Given the description of an element on the screen output the (x, y) to click on. 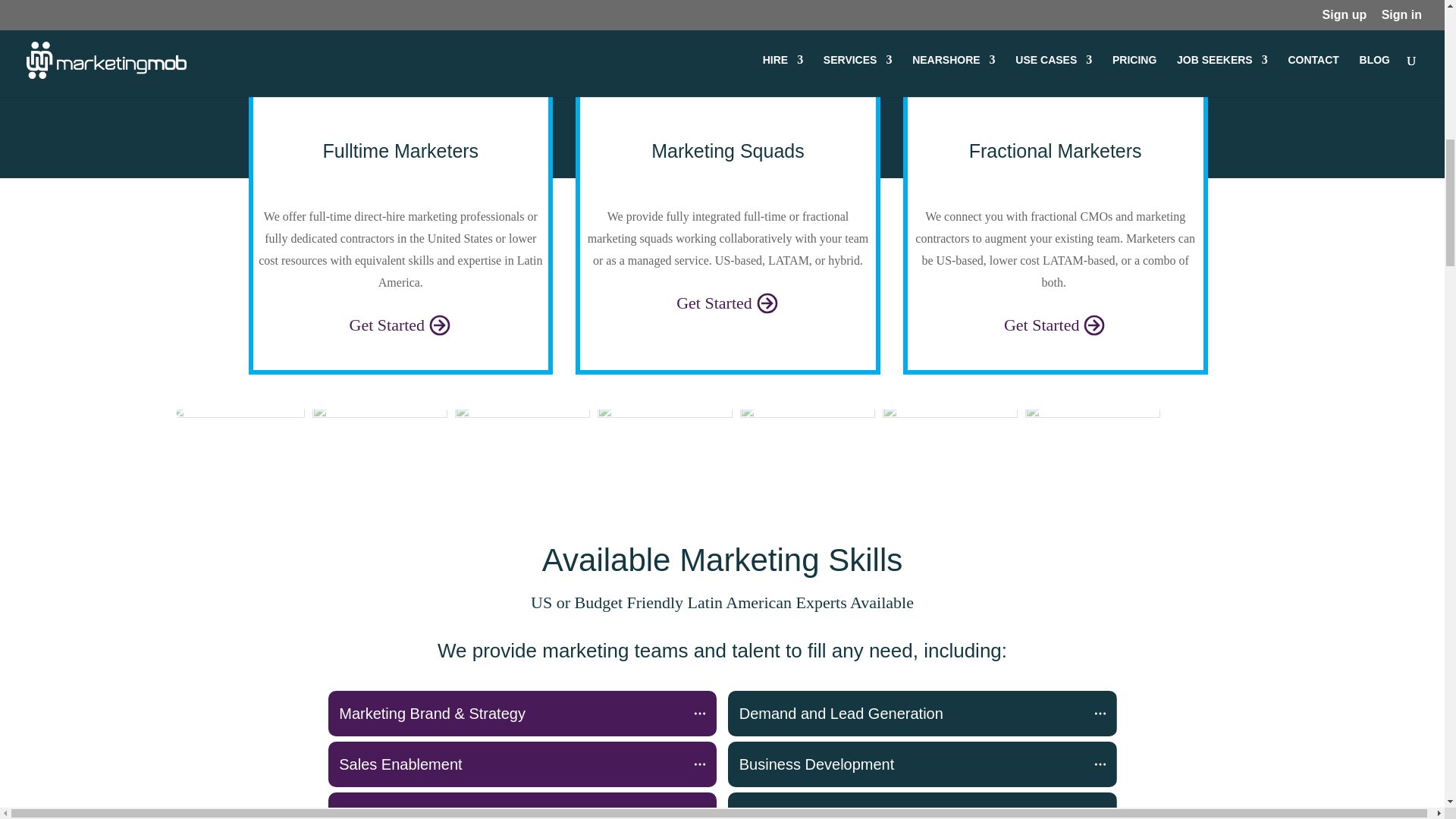
greenway Health (949, 443)
Get Started (1055, 323)
HD Supply (1092, 443)
Get Started (401, 323)
Get Started (727, 301)
Georgia Pacific (664, 443)
AchieveIT (807, 443)
Get Started (1055, 323)
Get Started (727, 301)
Fractional Marketers Icon (1055, 96)
Get Started (401, 323)
Marketing Squads Icon (727, 96)
Hexagon (237, 443)
Piedmont Healthcare (521, 443)
Inmar (379, 443)
